Given the description of an element on the screen output the (x, y) to click on. 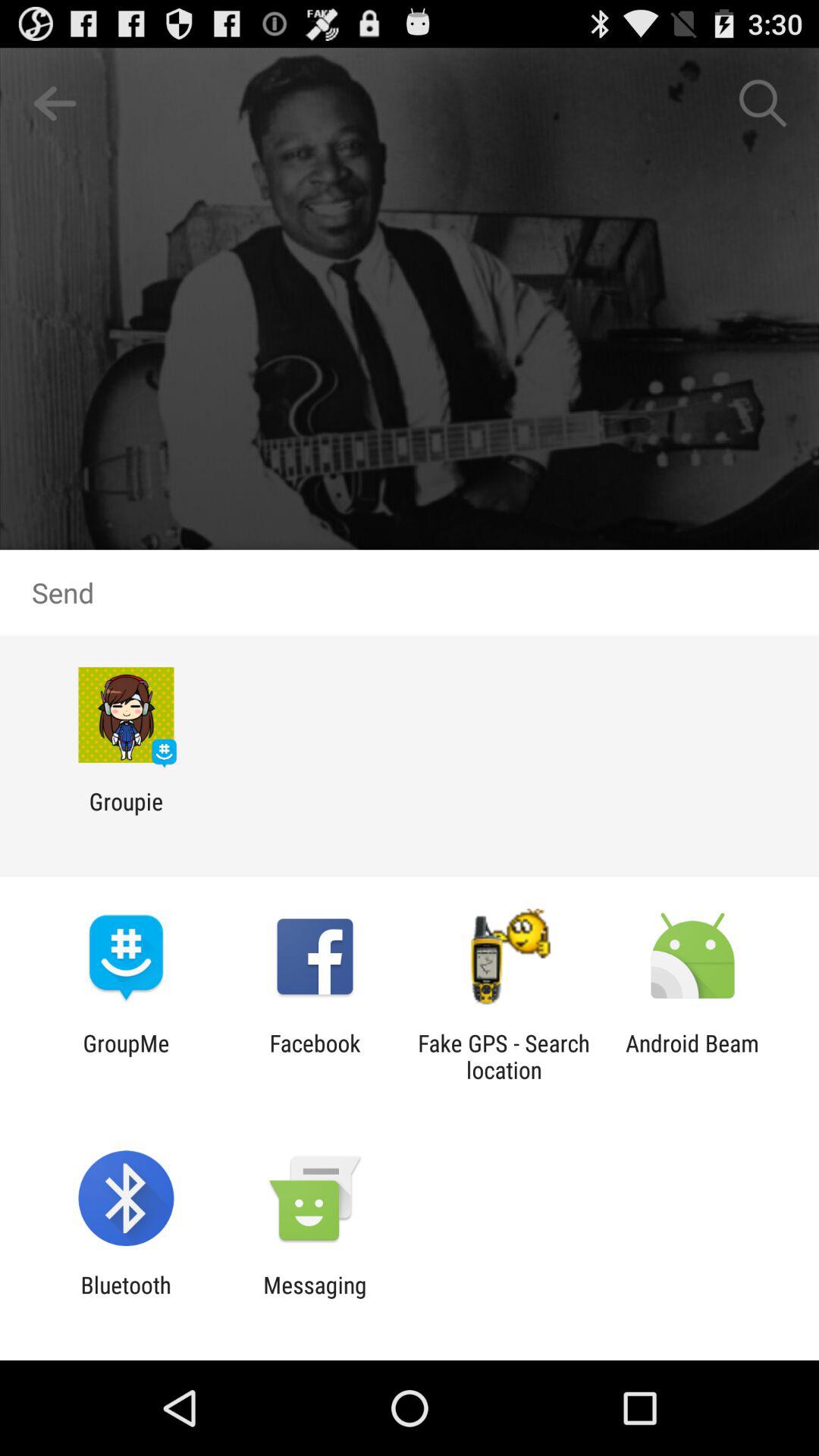
press groupie (126, 814)
